Given the description of an element on the screen output the (x, y) to click on. 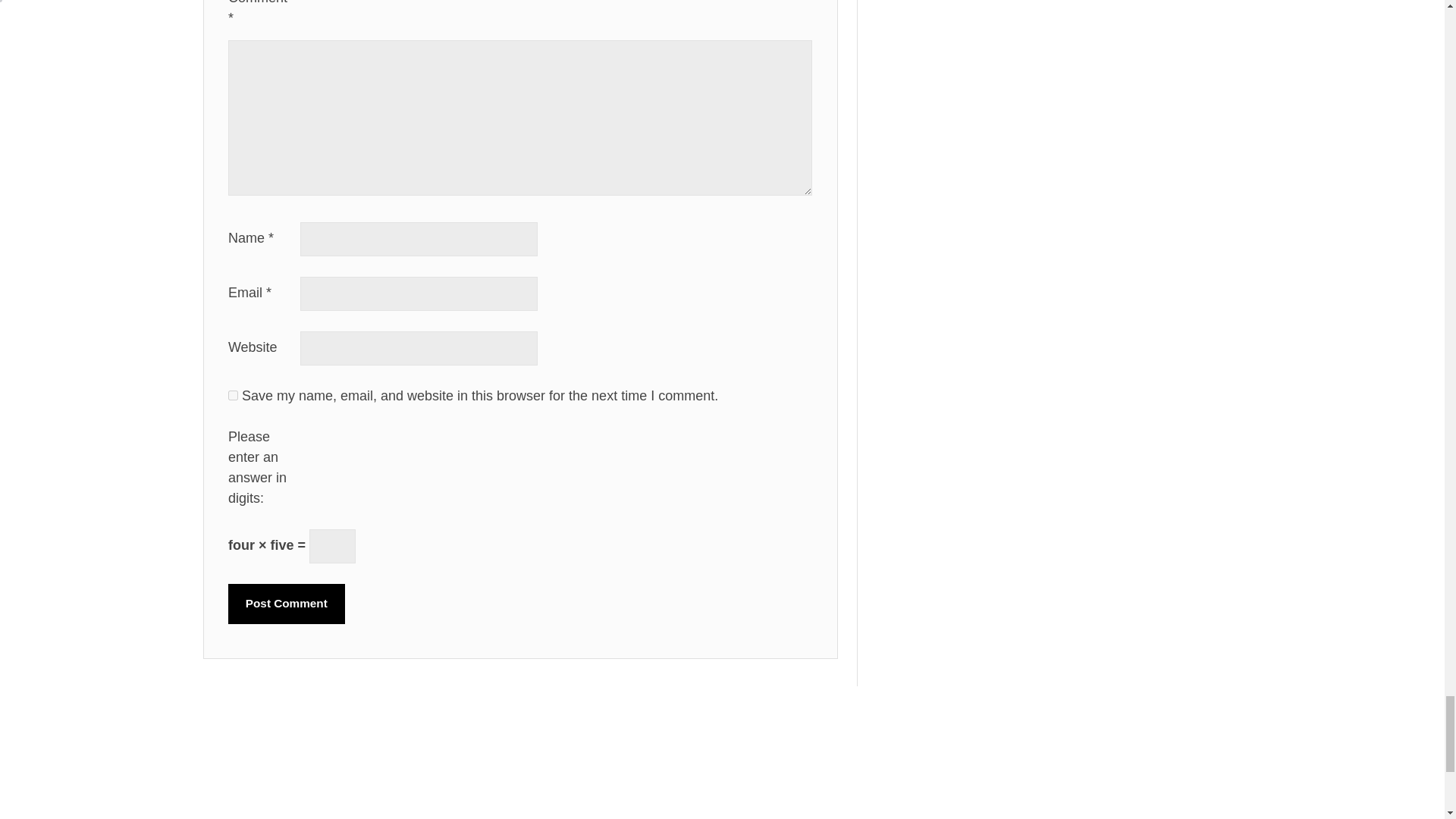
yes (233, 395)
Post Comment (286, 603)
